Given the description of an element on the screen output the (x, y) to click on. 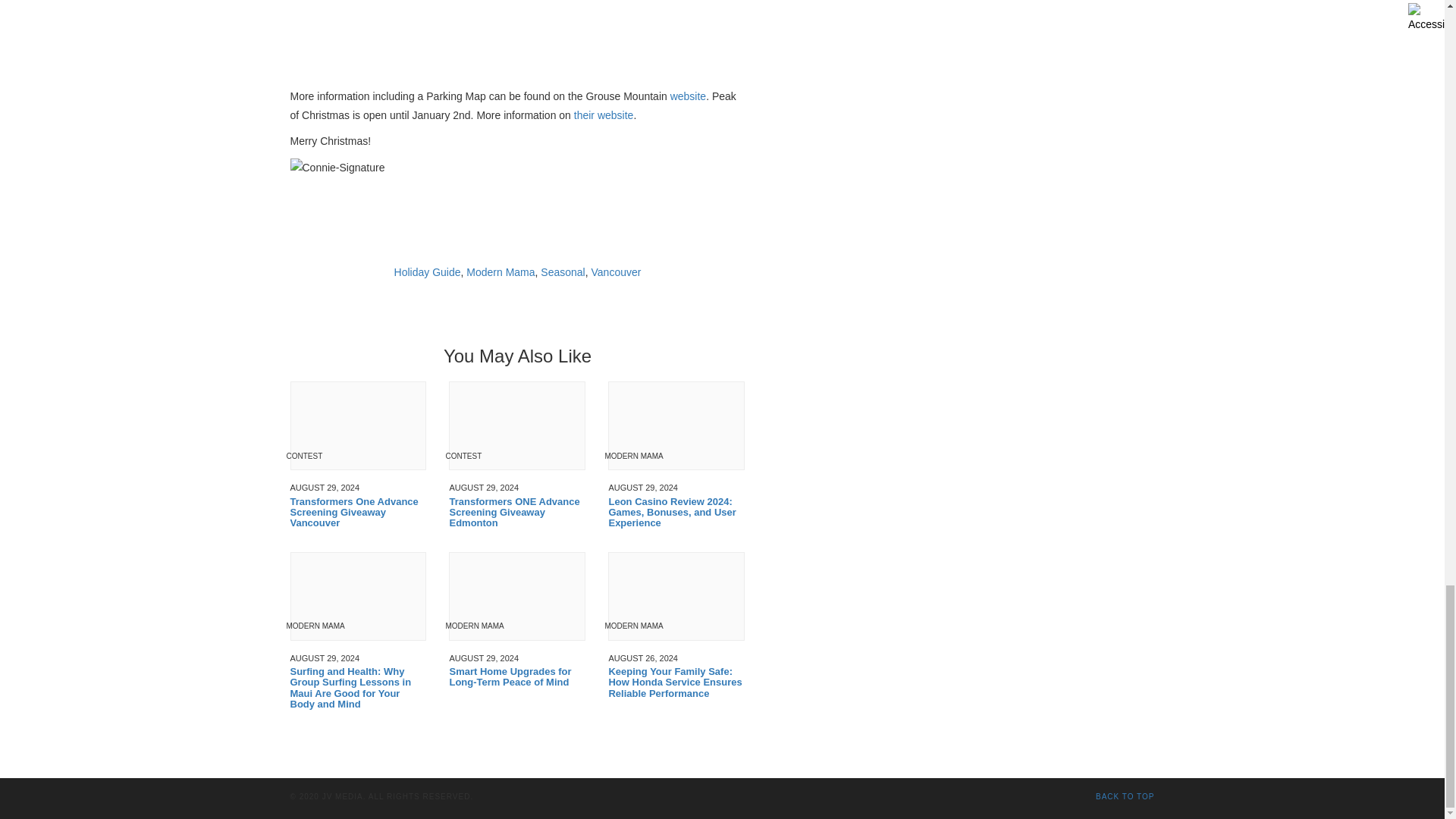
Transformers One Advance Screening Giveaway Vancouver (357, 512)
Transformers ONE Advance Screening Giveaway Edmonton (516, 512)
Smart Home Upgrades for Long-Term Peace of Mind (516, 677)
Leon Casino Review 2024: Games, Bonuses, and User Experience (676, 512)
